Given the description of an element on the screen output the (x, y) to click on. 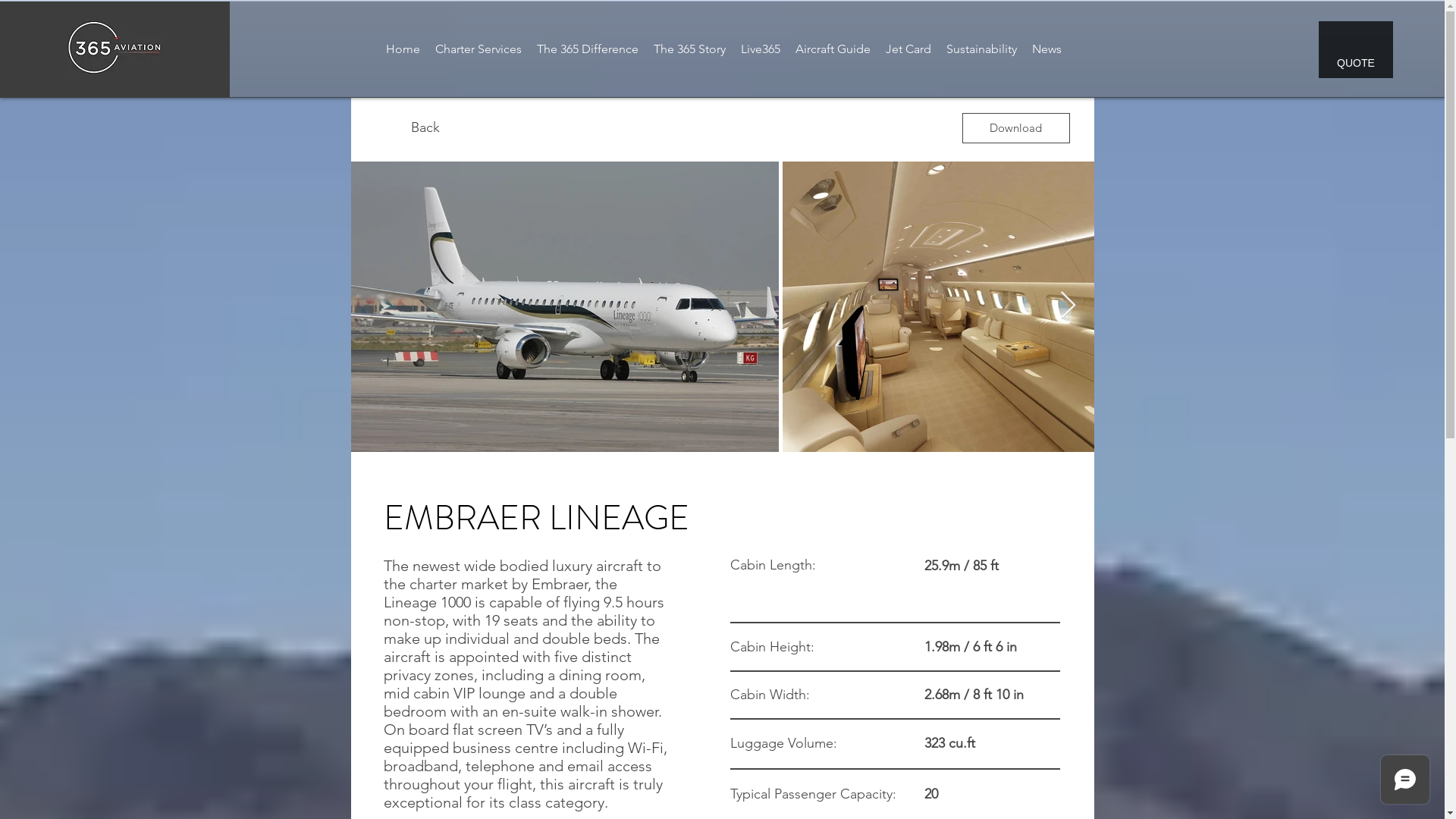
QUOTE Element type: text (1355, 49)
News Element type: text (1046, 49)
Jet Card Element type: text (908, 49)
The 365 Story Element type: text (689, 49)
Download Element type: text (1015, 127)
Sustainability Element type: text (981, 49)
Charter Services Element type: text (478, 49)
The 365 Difference Element type: text (587, 49)
Live365 Element type: text (760, 49)
Home Element type: text (402, 49)
Aircraft Guide Element type: text (832, 49)
Back Element type: text (425, 127)
